Given the description of an element on the screen output the (x, y) to click on. 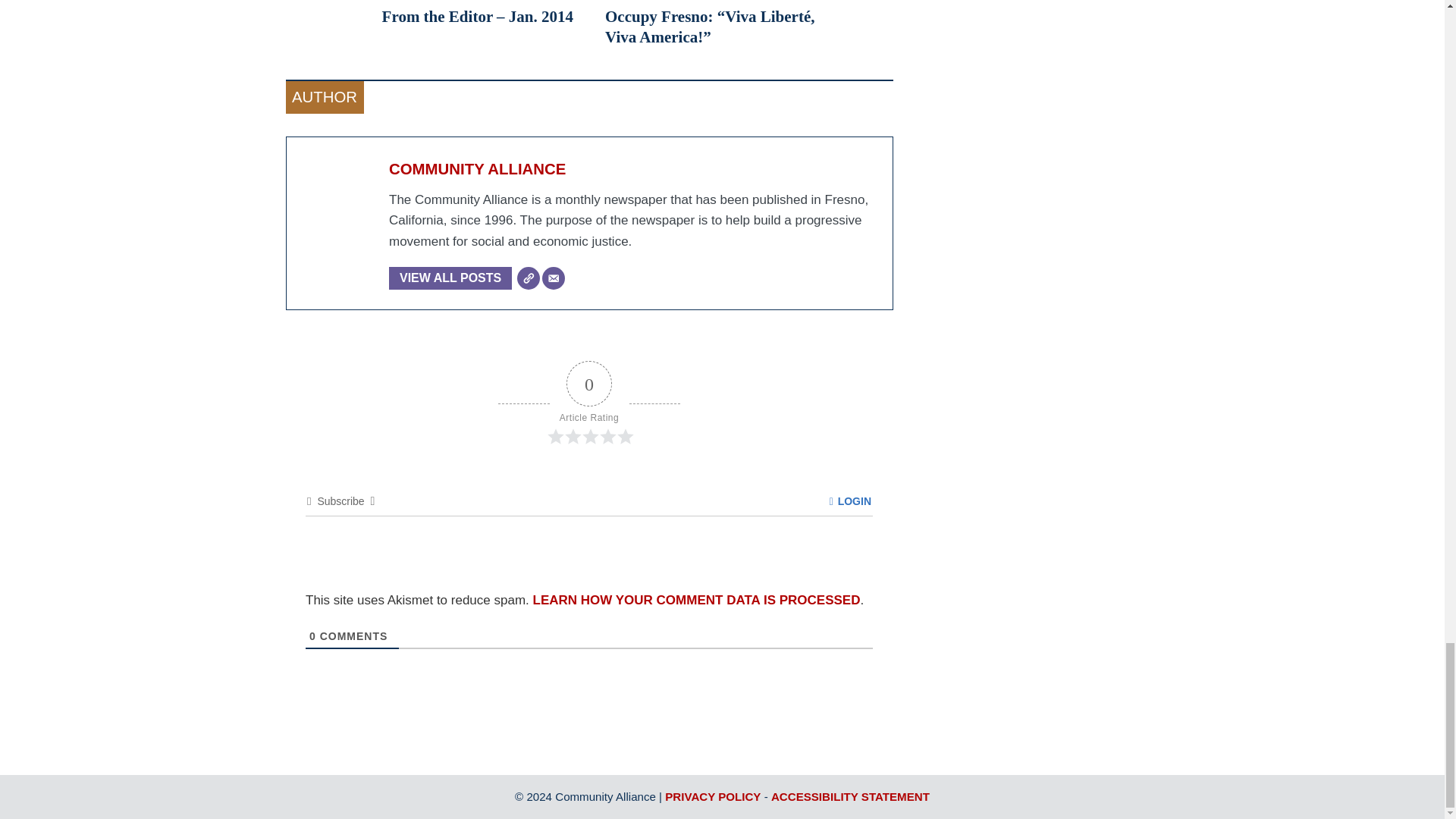
LOGIN (849, 500)
Community Alliance (477, 168)
COMMUNITY ALLIANCE (477, 168)
View all posts (450, 277)
VIEW ALL POSTS (450, 277)
